Given the description of an element on the screen output the (x, y) to click on. 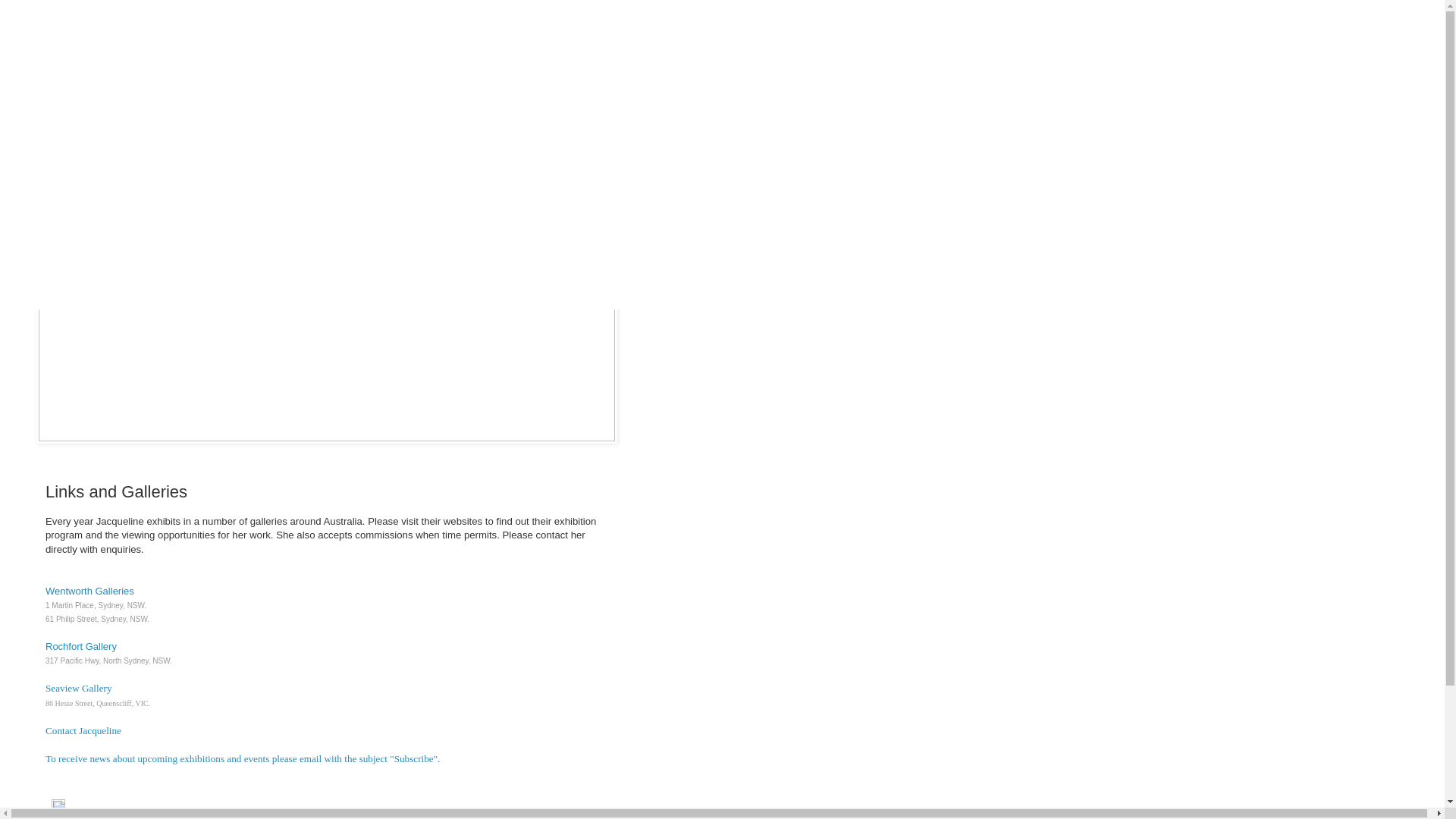
Achievements Element type: text (82, 188)
Links and Galleries Element type: text (92, 252)
In the studio Element type: text (78, 231)
Seaview Gallery Element type: text (78, 687)
Background Element type: text (78, 167)
Contact Jacqueline Element type: text (83, 730)
Home Element type: text (65, 145)
Jacqueline Fowler Element type: text (158, 67)
New Work Element type: text (75, 210)
Wentworth Galleries Element type: text (89, 590)
Rochfort Gallery Element type: text (80, 646)
Edit Page Element type: hover (58, 809)
